Given the description of an element on the screen output the (x, y) to click on. 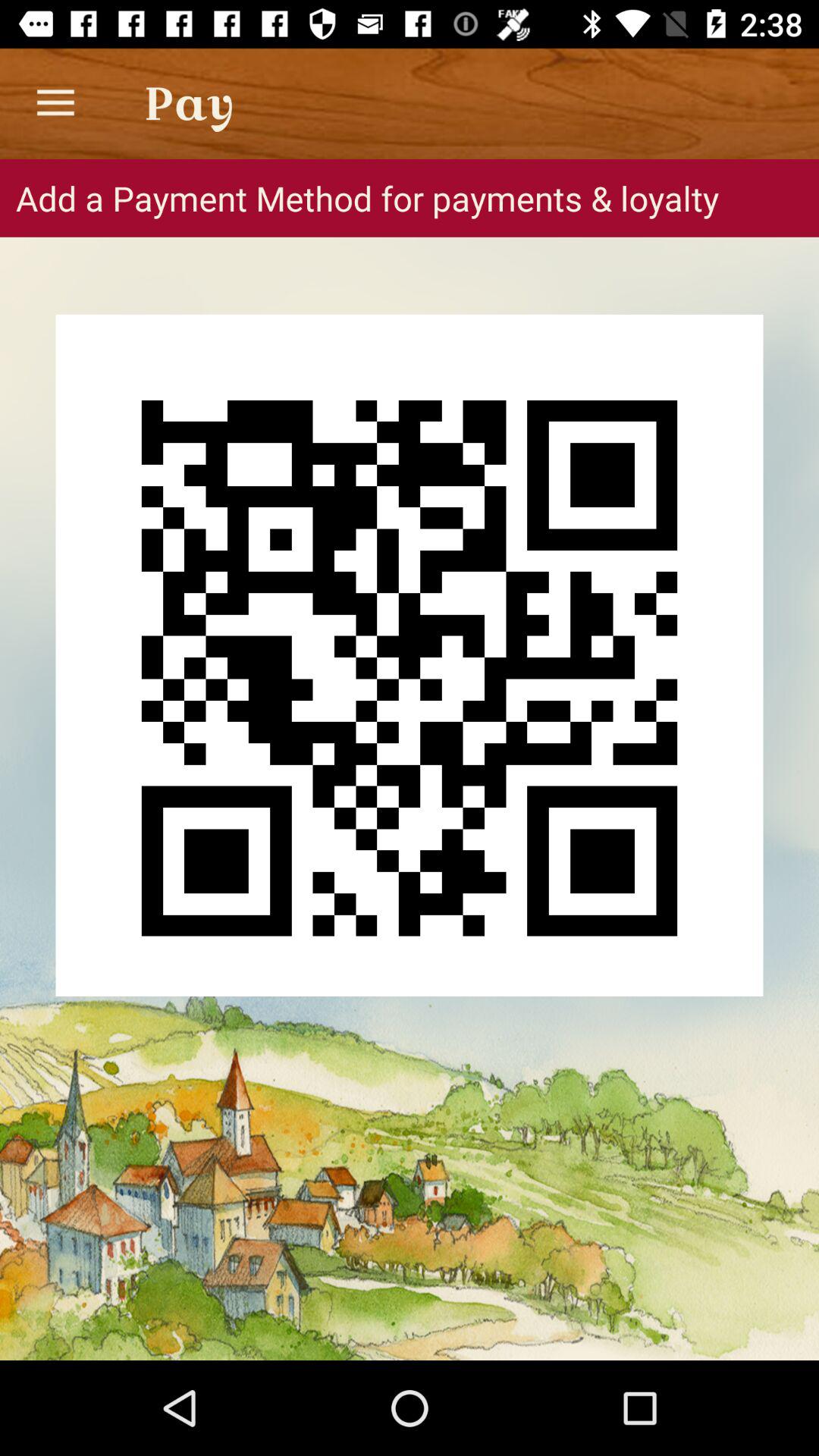
tap the icon below add a payment (409, 655)
